Given the description of an element on the screen output the (x, y) to click on. 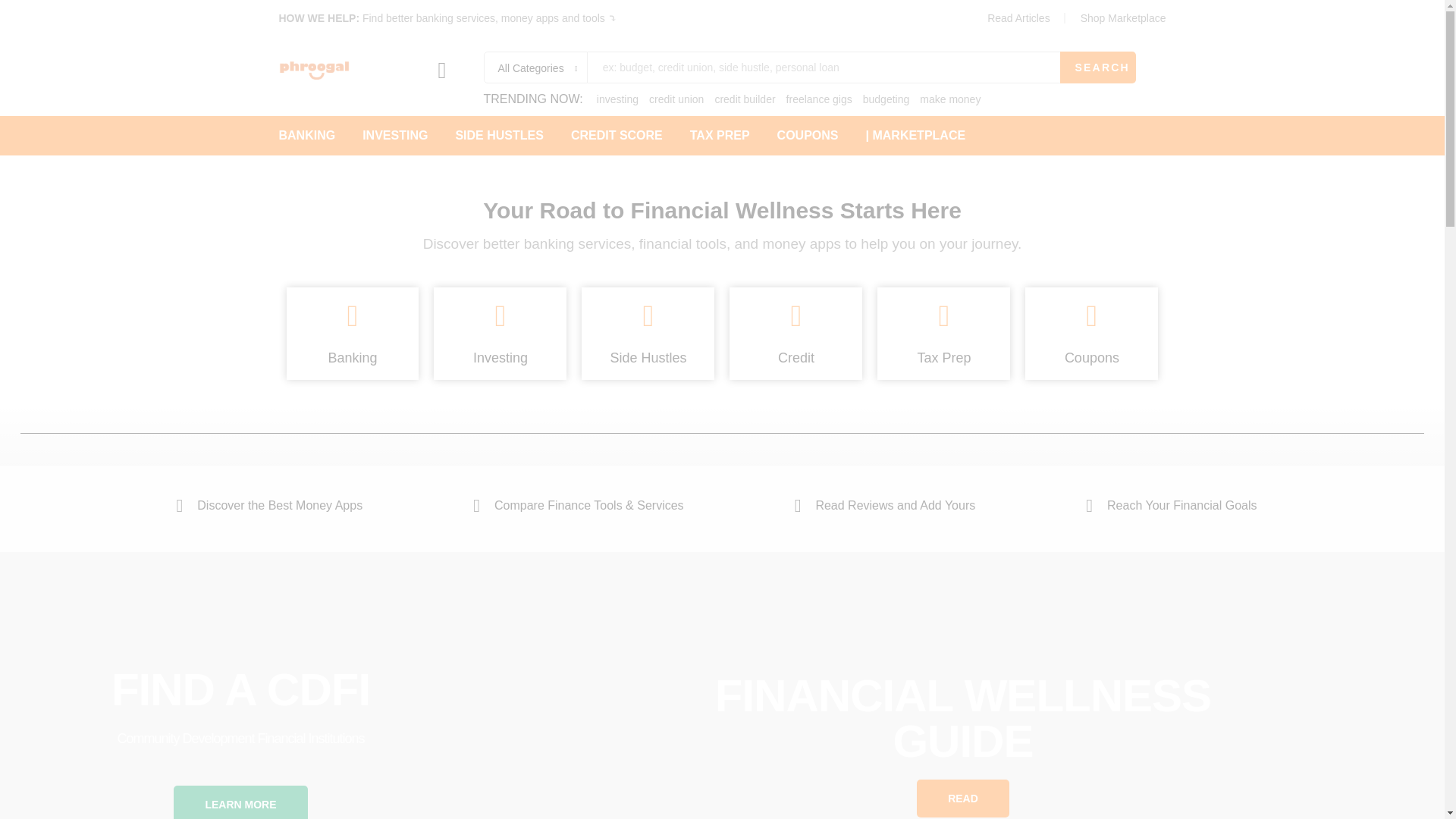
TAX PREP (719, 135)
CREDIT SCORE (616, 135)
budgeting (886, 99)
Banking (352, 357)
investing (617, 99)
COUPONS (807, 135)
Credit (795, 357)
SIDE HUSTLES (498, 135)
freelance gigs (818, 99)
INVESTING (395, 135)
